Given the description of an element on the screen output the (x, y) to click on. 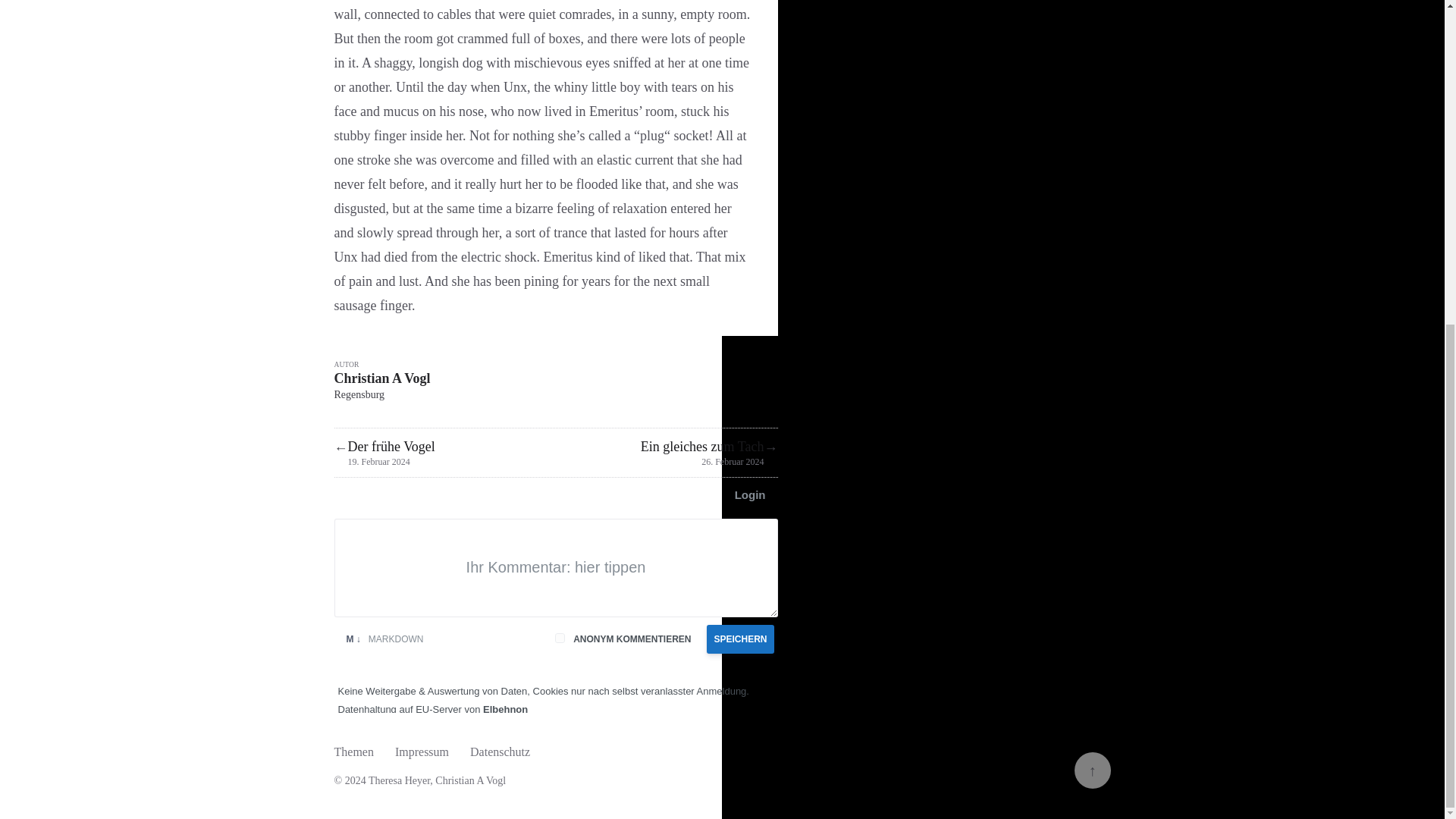
Impressum (421, 755)
Tags (352, 755)
Impressum (421, 755)
Datenschutz (499, 755)
Themen (352, 755)
SPEICHERN (739, 638)
Elbehnon (550, 700)
Datenschutz (499, 755)
